Given the description of an element on the screen output the (x, y) to click on. 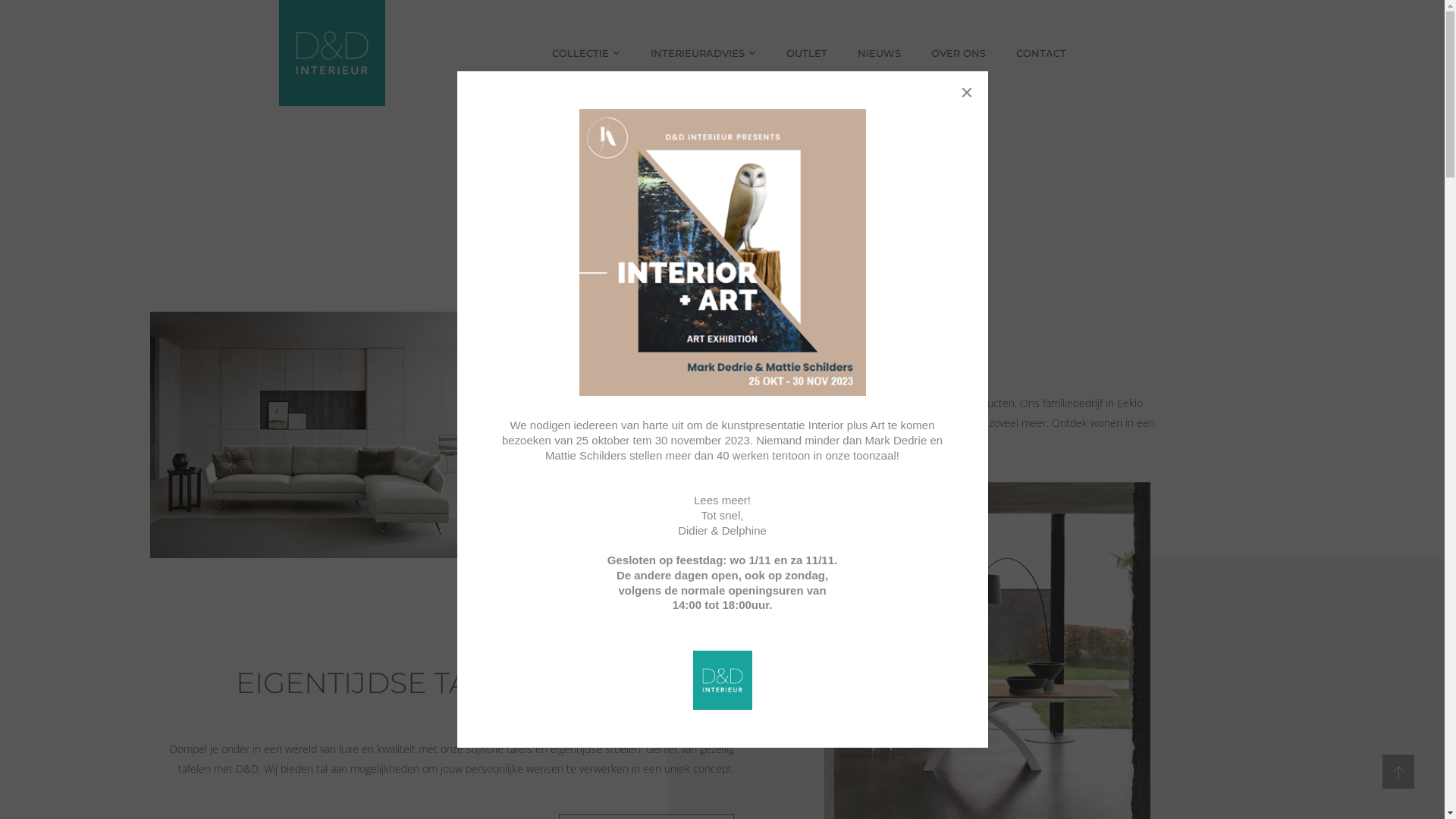
ZETELS Element type: text (686, 509)
OUTLET Element type: text (806, 53)
NIEUWS Element type: text (878, 53)
OVER ONS Element type: text (958, 53)
CONTACT Element type: text (1041, 53)
COLLECTIE Element type: text (586, 53)
INTERIEURADVIES Element type: text (703, 53)
